Given the description of an element on the screen output the (x, y) to click on. 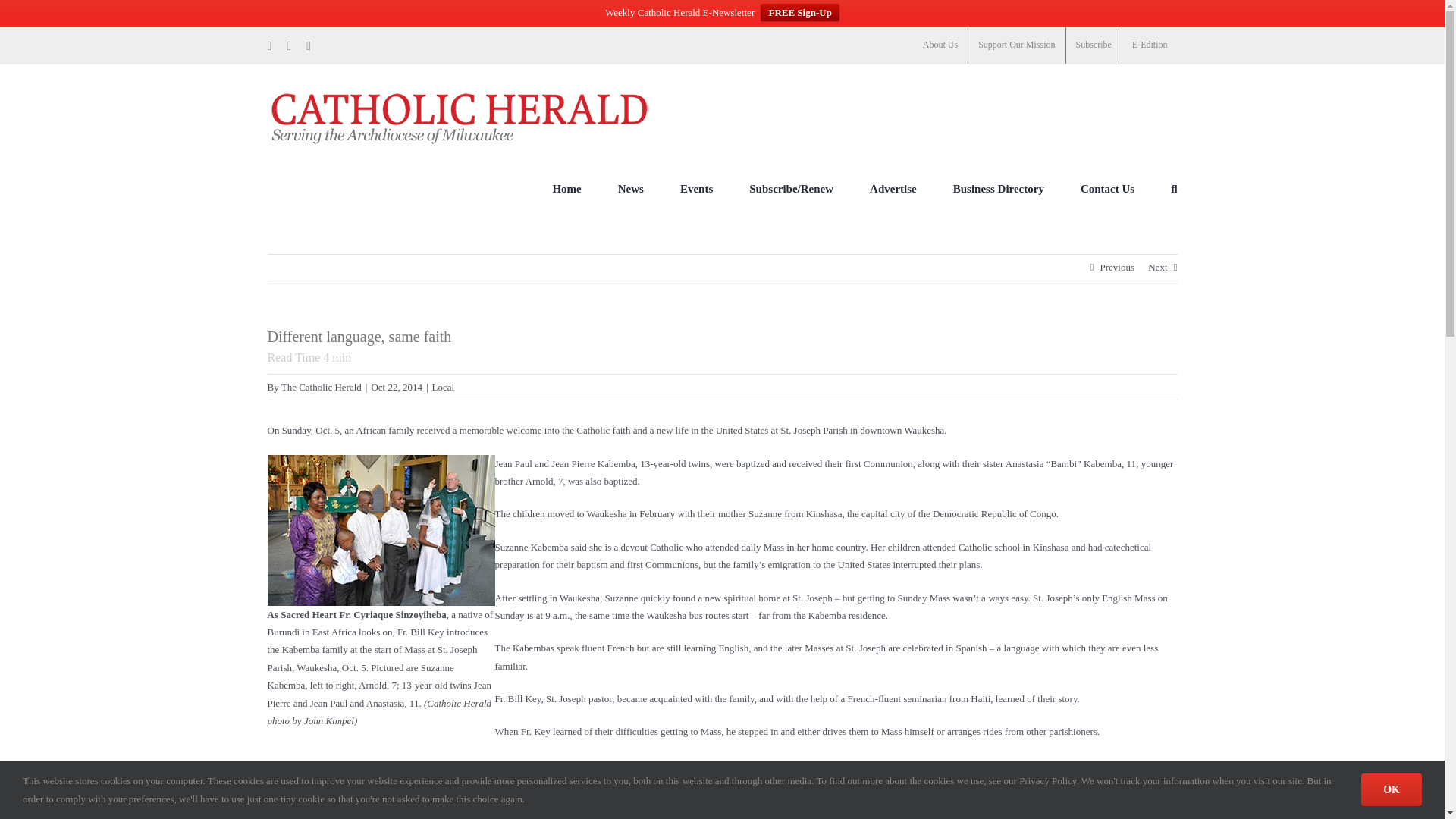
E-Edition (1149, 45)
Advertise (893, 188)
Support Our Mission (1016, 45)
Business Directory (998, 188)
Contact Us (1107, 188)
FREE Sign-Up (799, 12)
Subscribe (1093, 45)
About Us (940, 45)
Posts by The Catholic Herald (321, 387)
